Given the description of an element on the screen output the (x, y) to click on. 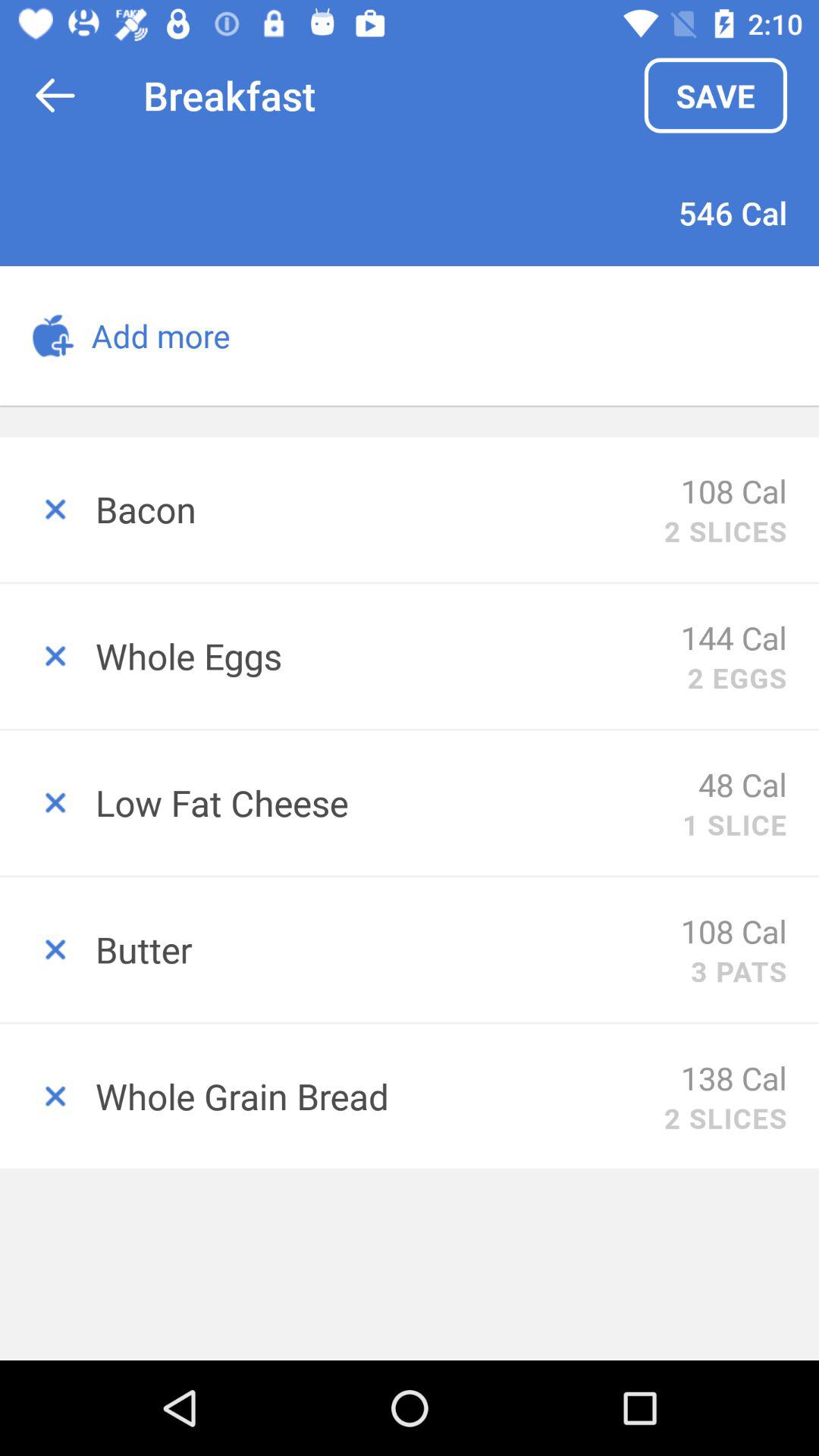
scroll until whole eggs item (387, 656)
